Given the description of an element on the screen output the (x, y) to click on. 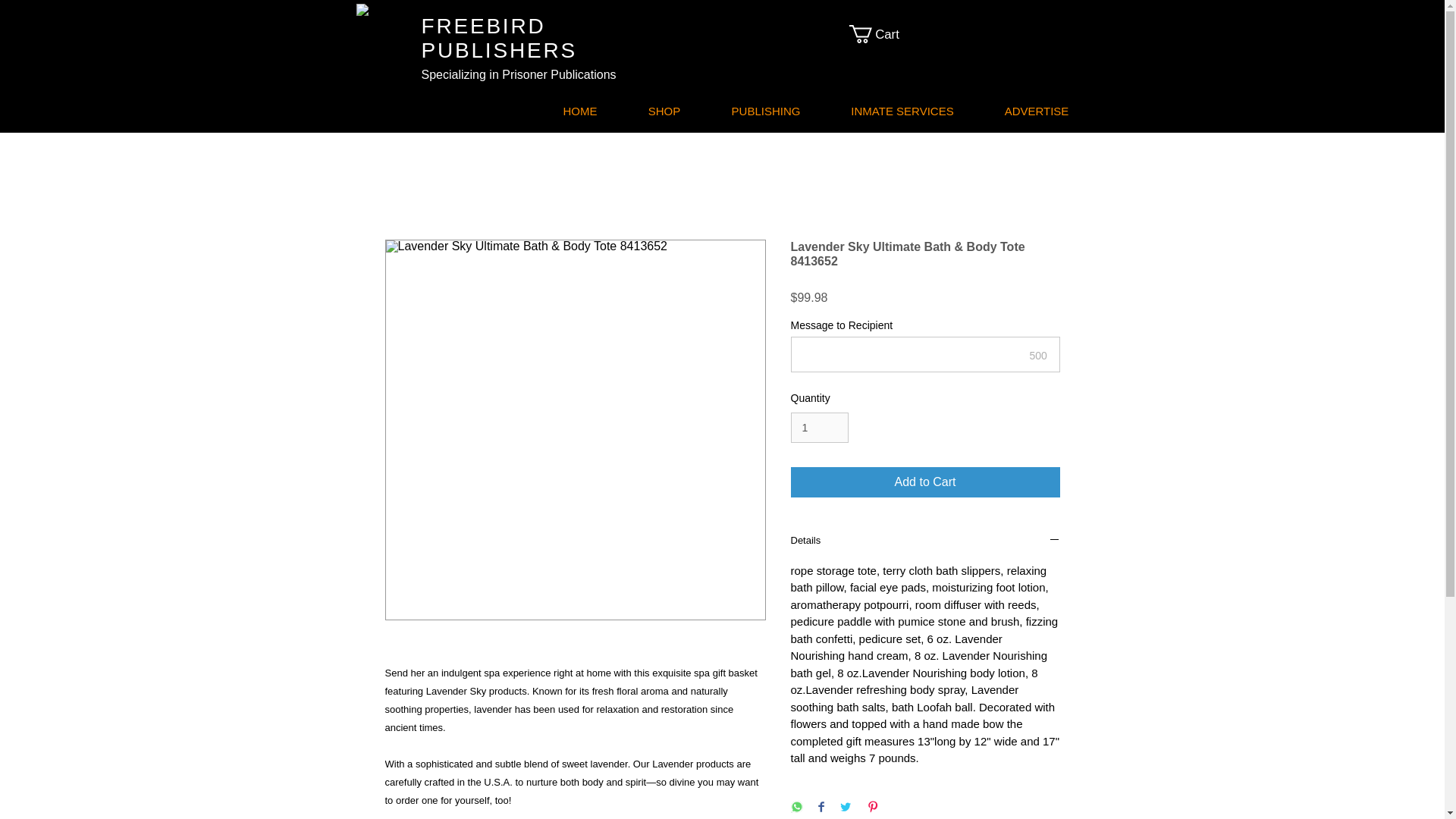
Cart (882, 34)
1 (818, 427)
SHOP (662, 110)
INMATE SERVICES (901, 110)
Cart (882, 34)
HOME (580, 110)
PUBLISHING (764, 110)
